Given the description of an element on the screen output the (x, y) to click on. 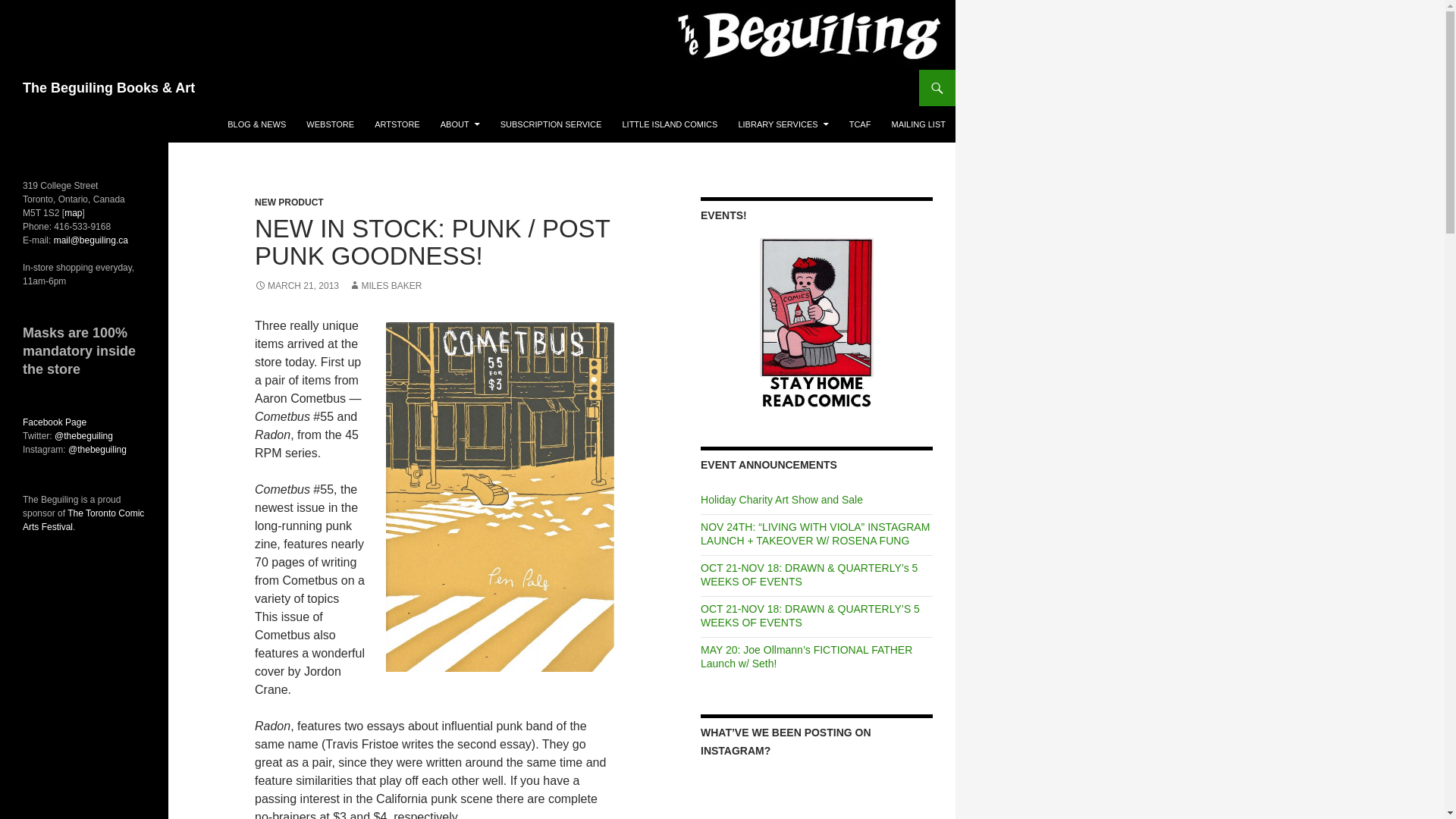
MILES BAKER (385, 285)
ABOUT (459, 124)
WEBSTORE (329, 124)
Holiday Charity Art Show and Sale (781, 499)
SUBSCRIPTION SERVICE (551, 124)
MARCH 21, 2013 (296, 285)
TCAF (860, 124)
MAILING LIST (918, 124)
